Given the description of an element on the screen output the (x, y) to click on. 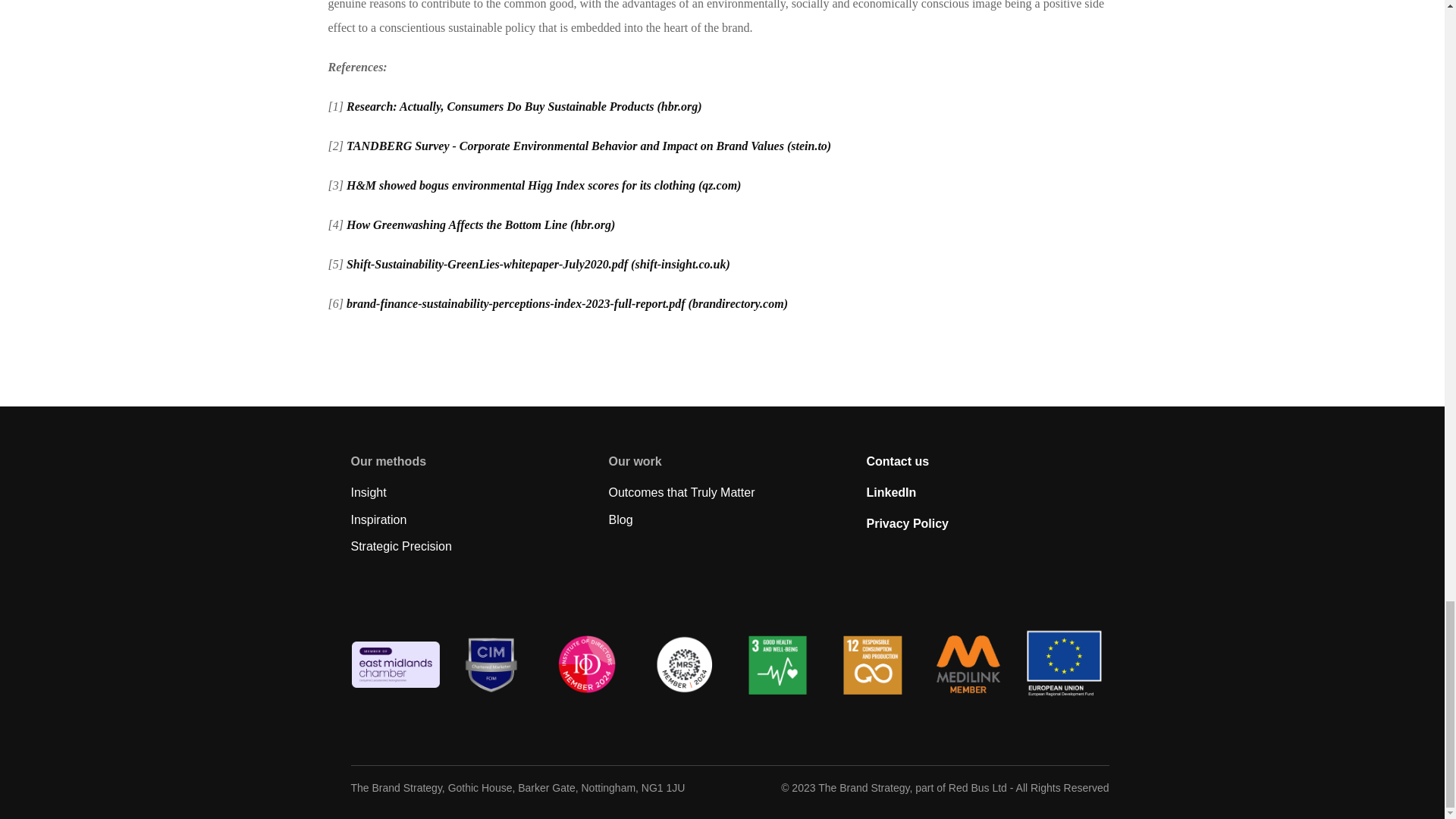
Contact us (897, 461)
Blog (619, 519)
Privacy Policy (907, 522)
Strategic Precision (400, 545)
Insight (367, 492)
LinkedIn (890, 492)
Inspiration (378, 519)
Outcomes that Truly Matter (681, 492)
